Given the description of an element on the screen output the (x, y) to click on. 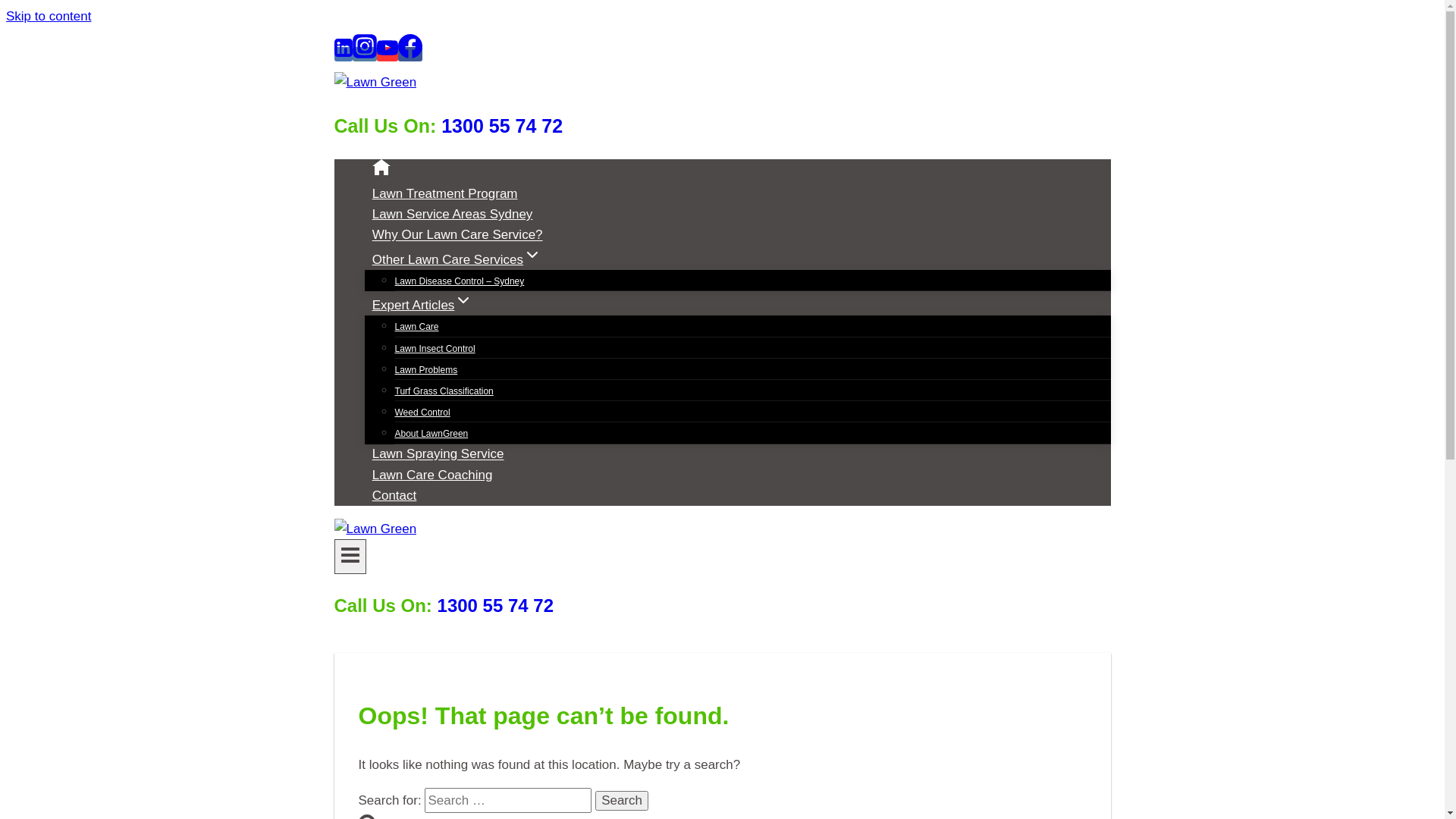
1300 55 74 72 Element type: text (495, 605)
Toggle Menu Element type: text (349, 556)
YouTube Element type: text (386, 54)
Search Element type: text (621, 800)
Contact Element type: text (393, 495)
Expert ArticlesExpand Element type: text (422, 305)
Linkedin Element type: text (342, 54)
1300 55 74 72 Element type: text (501, 125)
Lawn Spraying Service Element type: text (437, 453)
Weed Control Element type: text (421, 412)
About LawnGreen Element type: text (430, 433)
Instagram Element type: text (363, 54)
Lawn Insect Control Element type: text (434, 348)
Lawn Service Areas Sydney Element type: text (451, 214)
Lawn Treatment Program Element type: text (444, 193)
Other Lawn Care ServicesExpand Element type: text (456, 259)
Lawn Care Element type: text (416, 326)
Lawn Care Coaching Element type: text (431, 474)
Facebook Element type: text (409, 54)
Skip to content Element type: text (48, 16)
Turf Grass Classification Element type: text (443, 390)
Why Our Lawn Care Service? Element type: text (456, 234)
Lawn Problems Element type: text (425, 369)
